Given the description of an element on the screen output the (x, y) to click on. 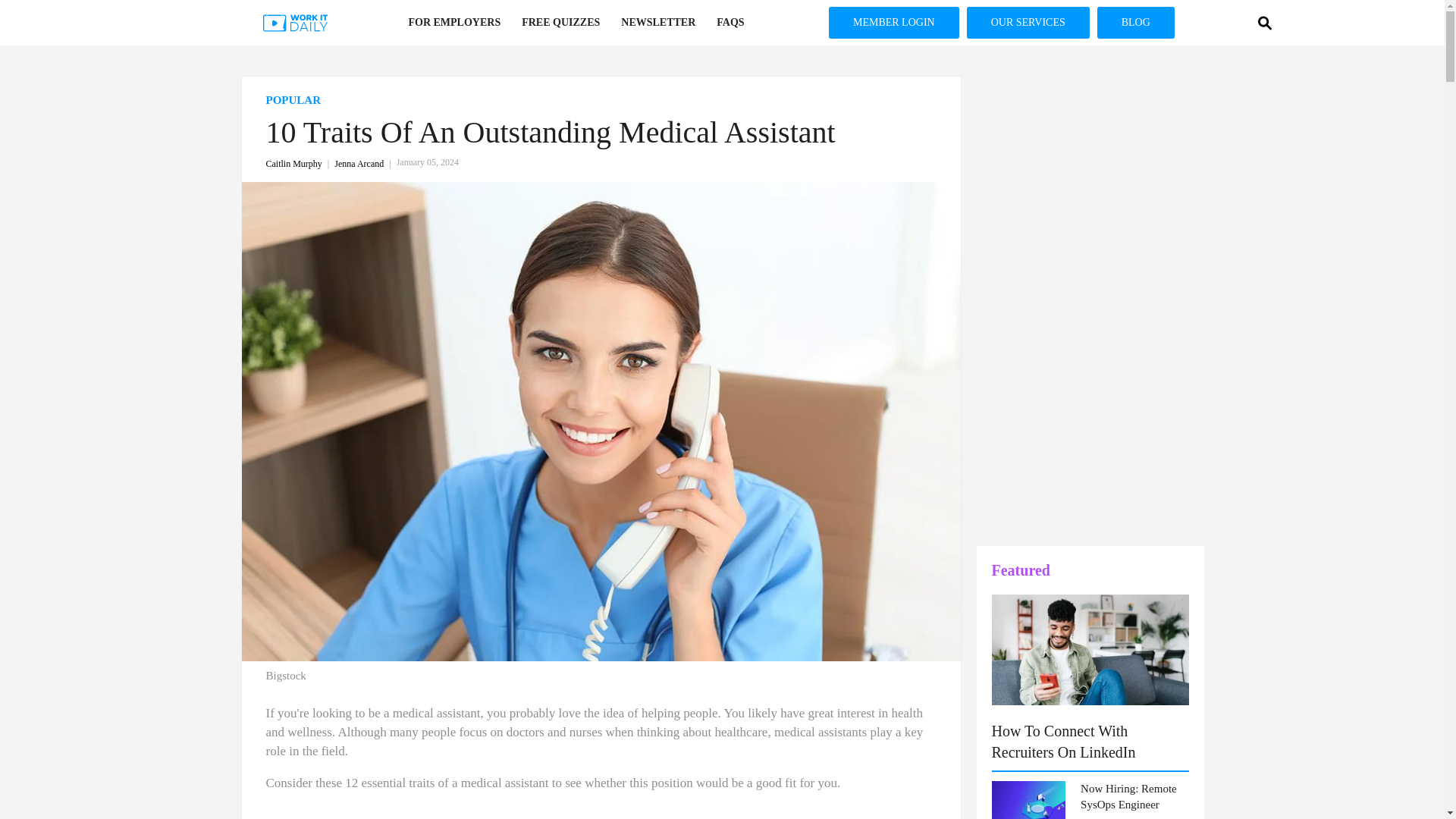
MEMBER LOGIN (893, 22)
POPULAR (600, 99)
FREE QUIZZES (560, 22)
FAQS (730, 22)
Caitlin Murphy (299, 163)
BLOG (1135, 22)
NEWSLETTER (658, 22)
FOR EMPLOYERS (454, 22)
Jenna Arcand (365, 163)
OUR SERVICES (1027, 22)
